Given the description of an element on the screen output the (x, y) to click on. 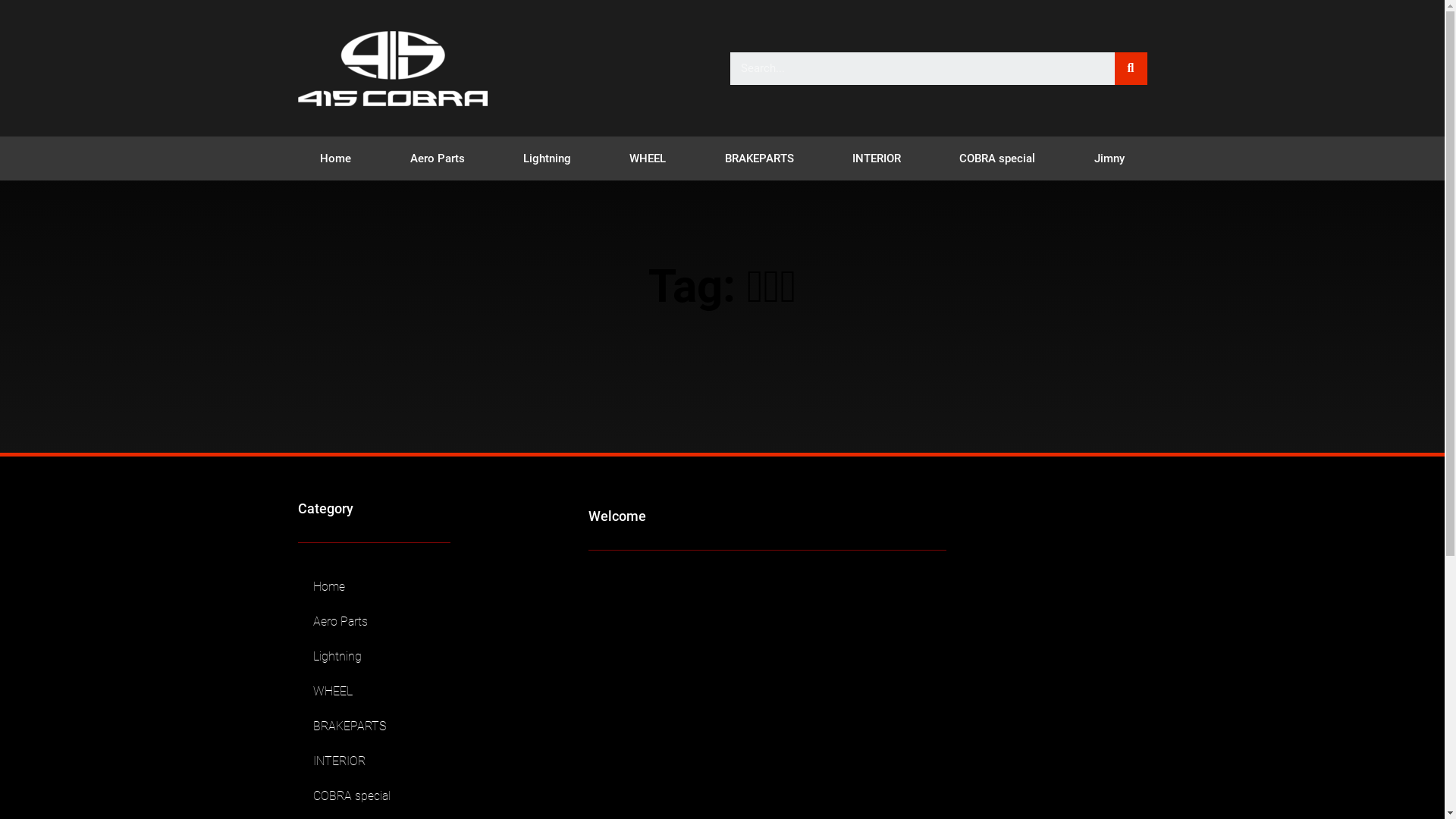
Home Element type: text (373, 586)
COBRA special Element type: text (997, 158)
Lightning Element type: text (546, 158)
INTERIOR Element type: text (875, 158)
Aero Parts Element type: text (373, 621)
Home Element type: text (335, 158)
COBRA special Element type: text (373, 795)
INTERIOR Element type: text (373, 760)
WHEEL Element type: text (373, 691)
BRAKEPARTS Element type: text (758, 158)
WHEEL Element type: text (647, 158)
Jimny Element type: text (1108, 158)
Lightning Element type: text (373, 656)
BRAKEPARTS Element type: text (373, 726)
Aero Parts Element type: text (436, 158)
